Given the description of an element on the screen output the (x, y) to click on. 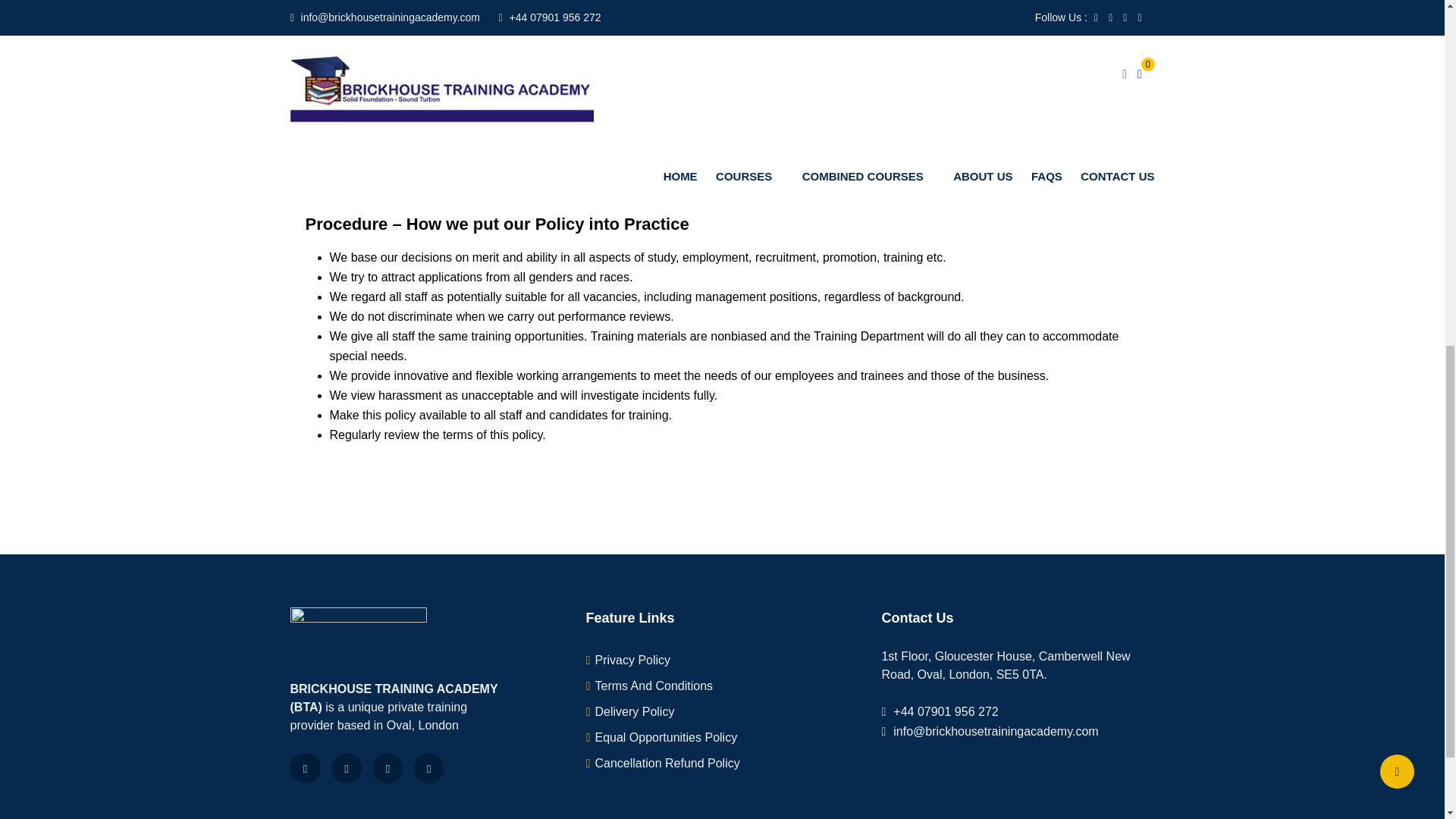
Youtube (387, 767)
Twitter (346, 767)
Instagram (428, 767)
Facebook (304, 767)
